Given the description of an element on the screen output the (x, y) to click on. 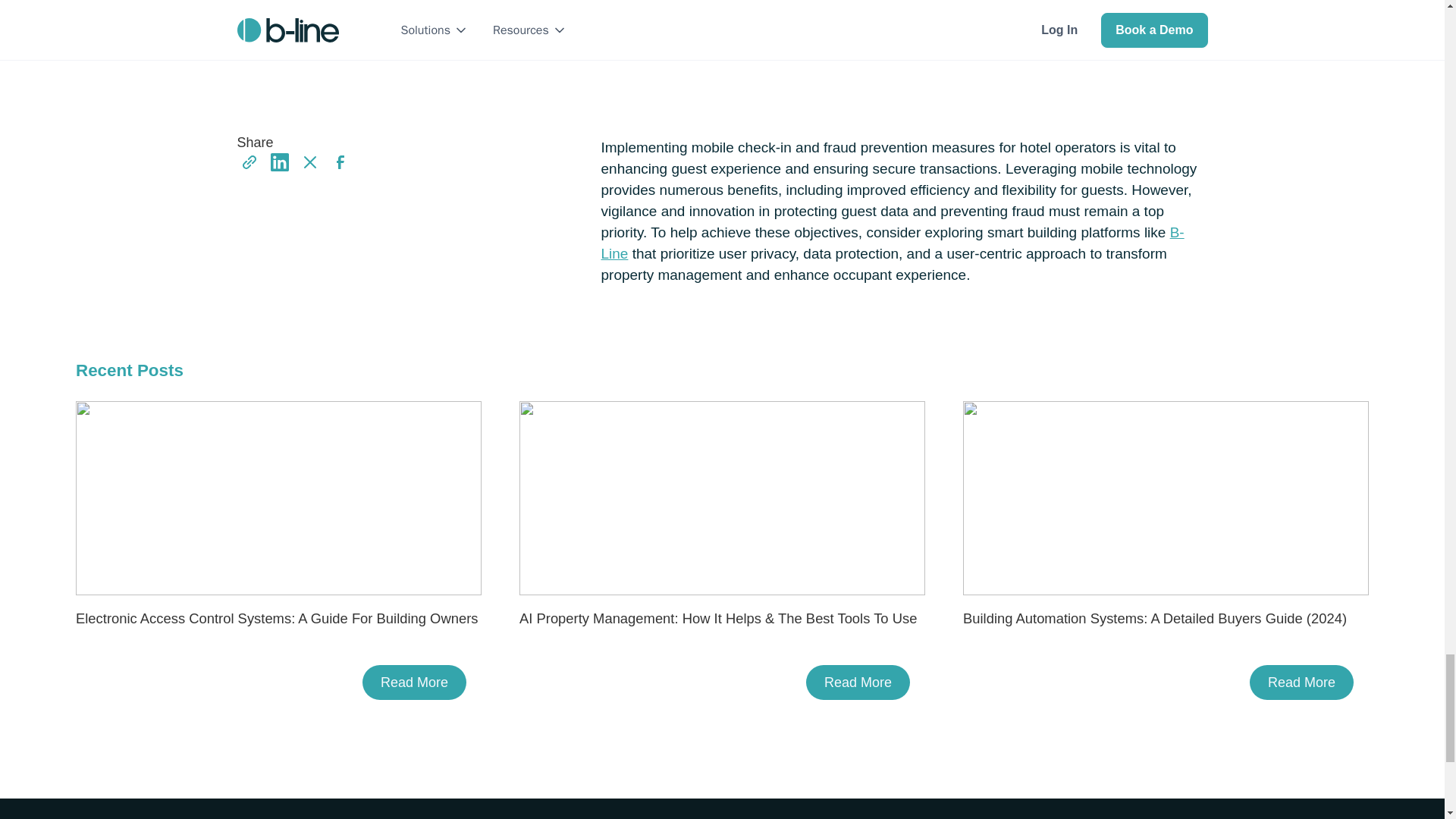
Read More (858, 682)
B-Line (891, 242)
Read More (413, 682)
Read More (1301, 682)
